Given the description of an element on the screen output the (x, y) to click on. 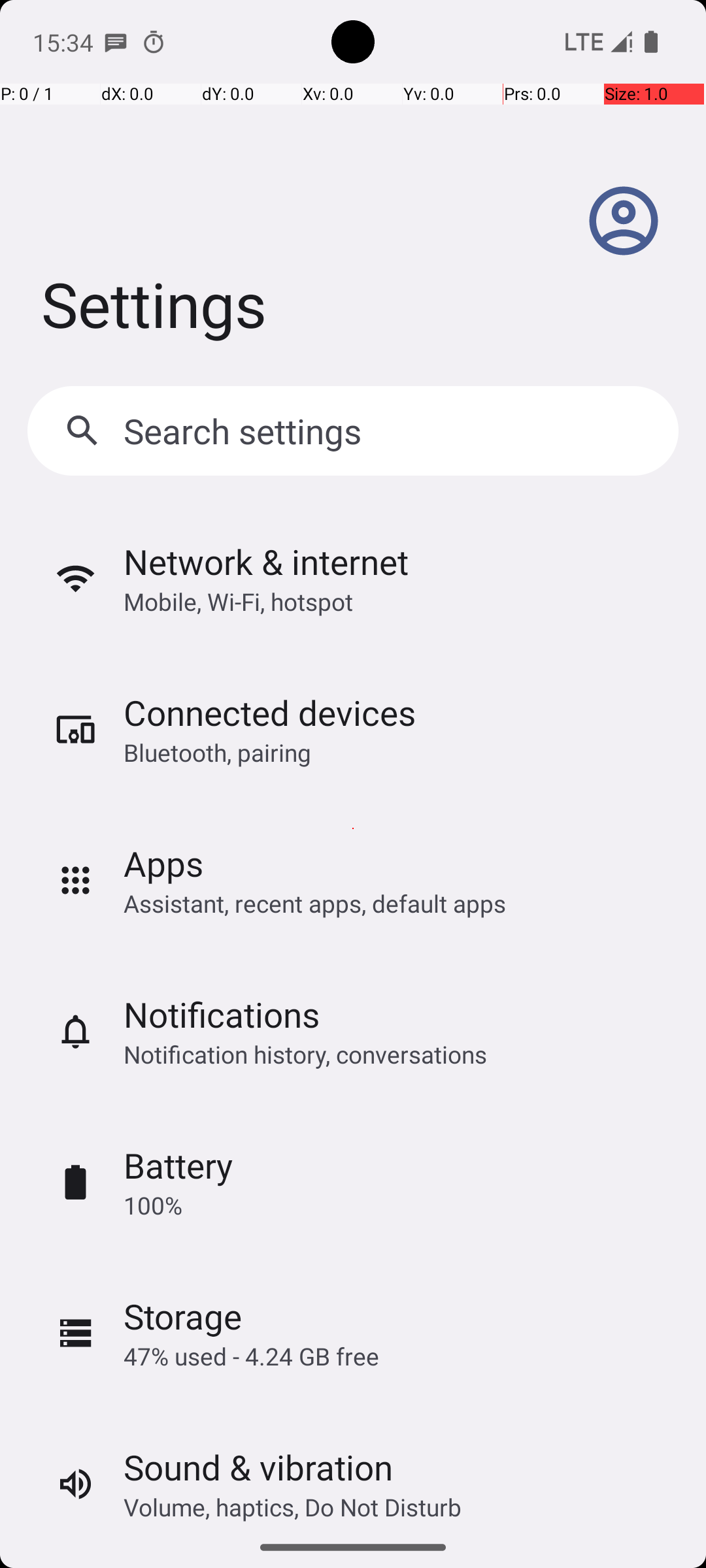
47% used - 4.24 GB free Element type: android.widget.TextView (251, 1355)
